Given the description of an element on the screen output the (x, y) to click on. 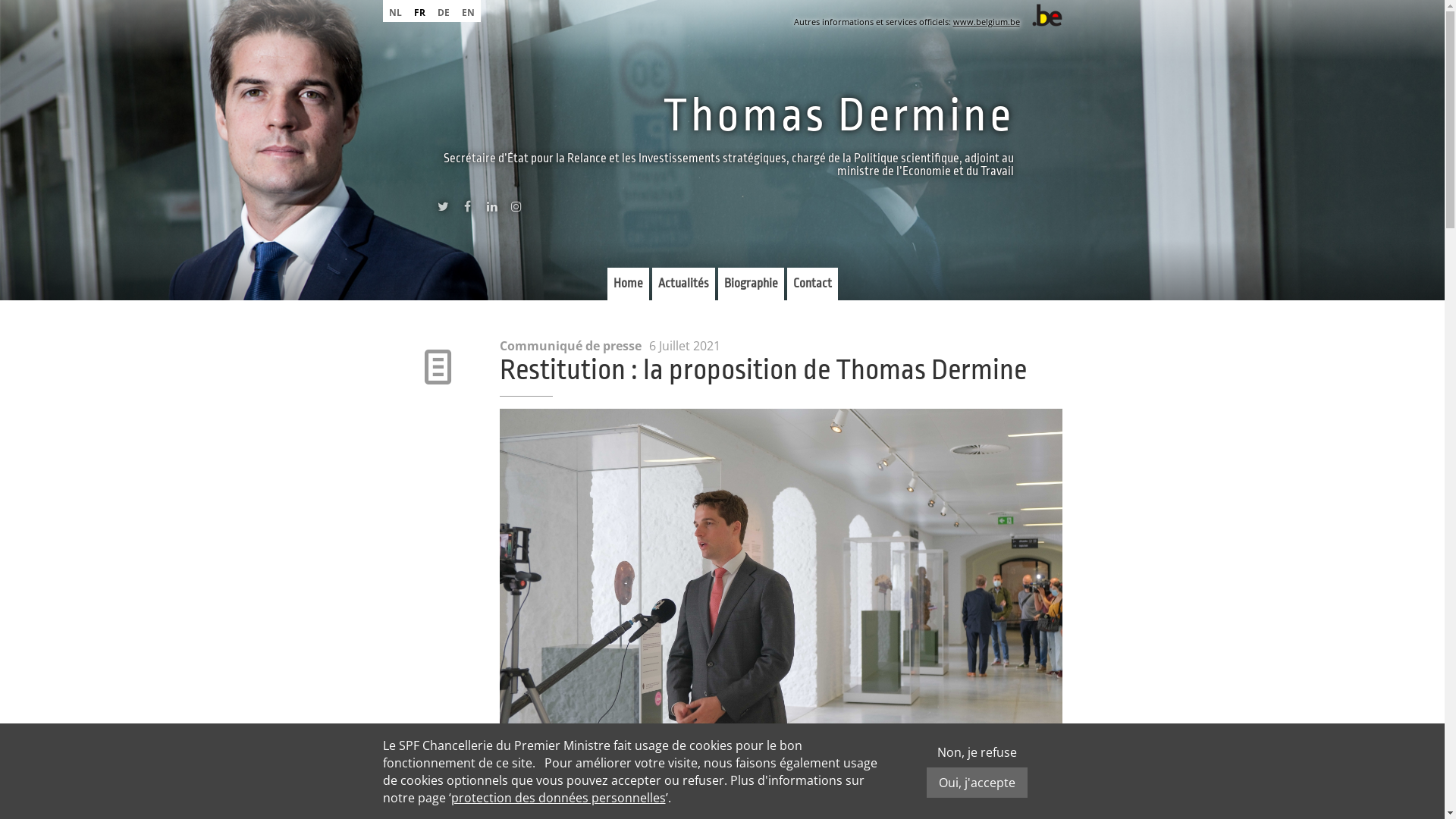
EN Element type: text (467, 11)
twitter Element type: text (442, 209)
Home Element type: text (627, 284)
FR Element type: text (419, 11)
www.belgium.be Element type: text (985, 21)
facebook Element type: text (467, 209)
Biographie Element type: text (750, 284)
Thomas Dermine Element type: text (837, 115)
DE Element type: text (442, 11)
Non, je refuse Element type: text (977, 752)
Aller au contenu principal Element type: text (73, 0)
instagram Element type: text (515, 209)
Contact Element type: text (812, 284)
NL Element type: text (394, 11)
linkedin Element type: text (491, 209)
Oui, j'accepte Element type: text (976, 782)
